Given the description of an element on the screen output the (x, y) to click on. 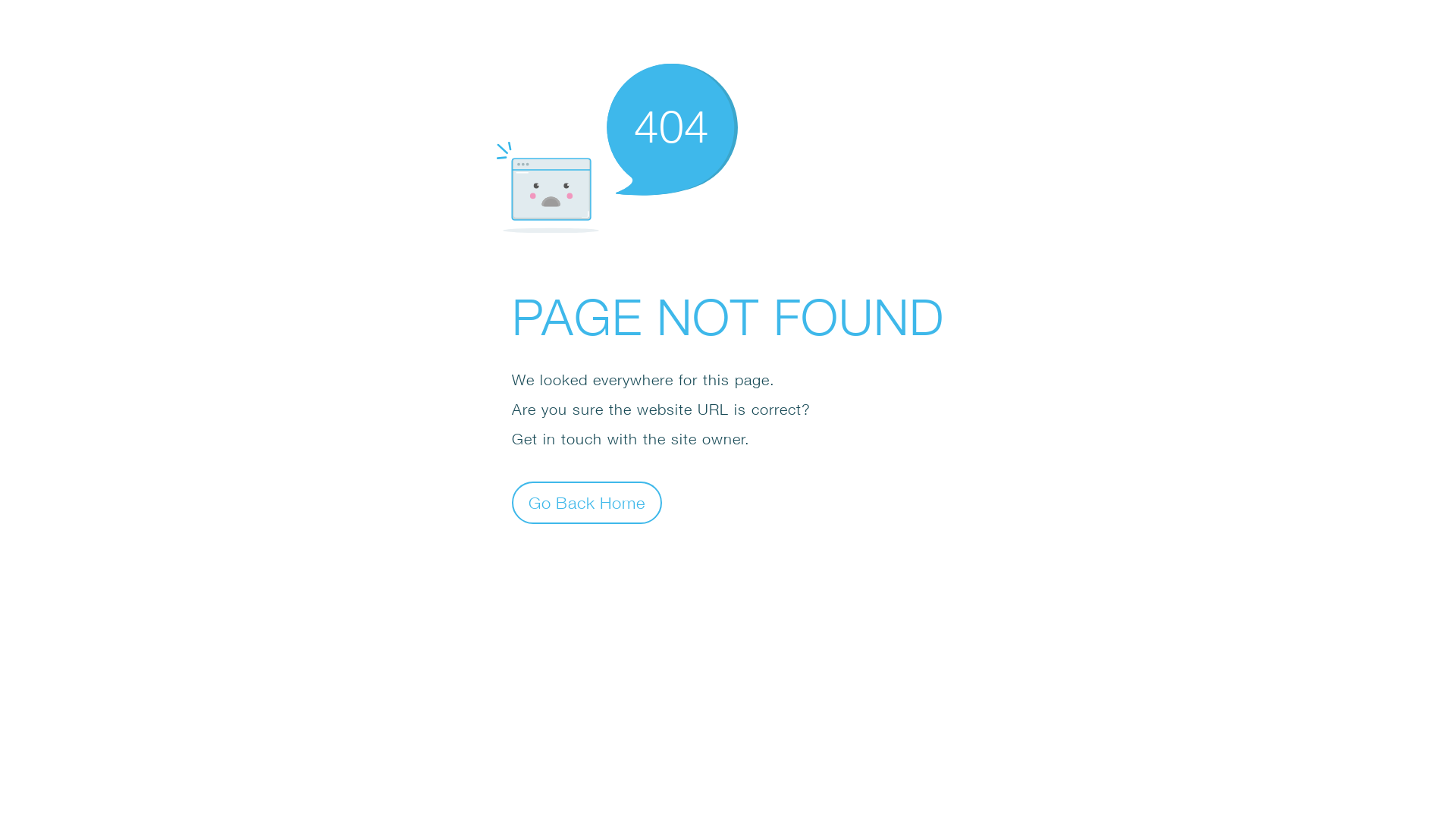
Go Back Home Element type: text (586, 502)
